Given the description of an element on the screen output the (x, y) to click on. 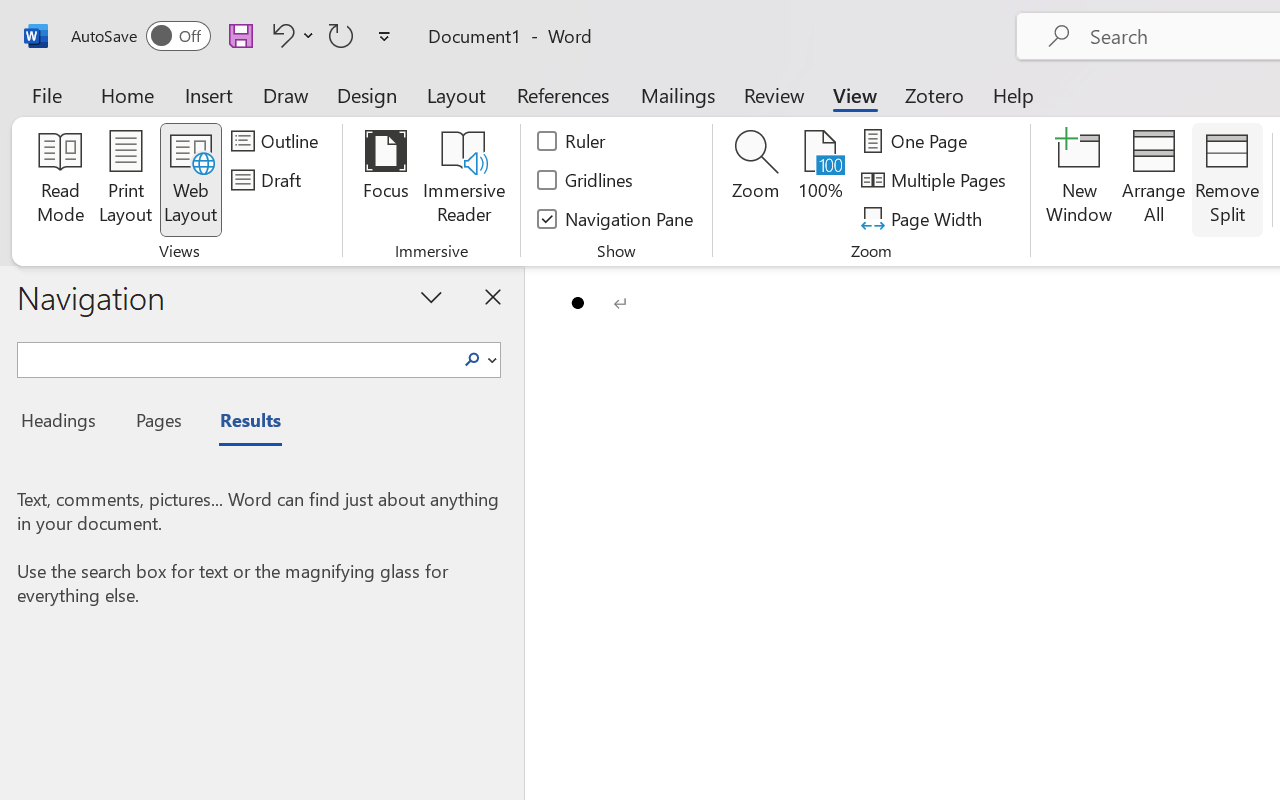
Undo Bullet Default (290, 35)
Ruler (572, 141)
Results (240, 423)
